Given the description of an element on the screen output the (x, y) to click on. 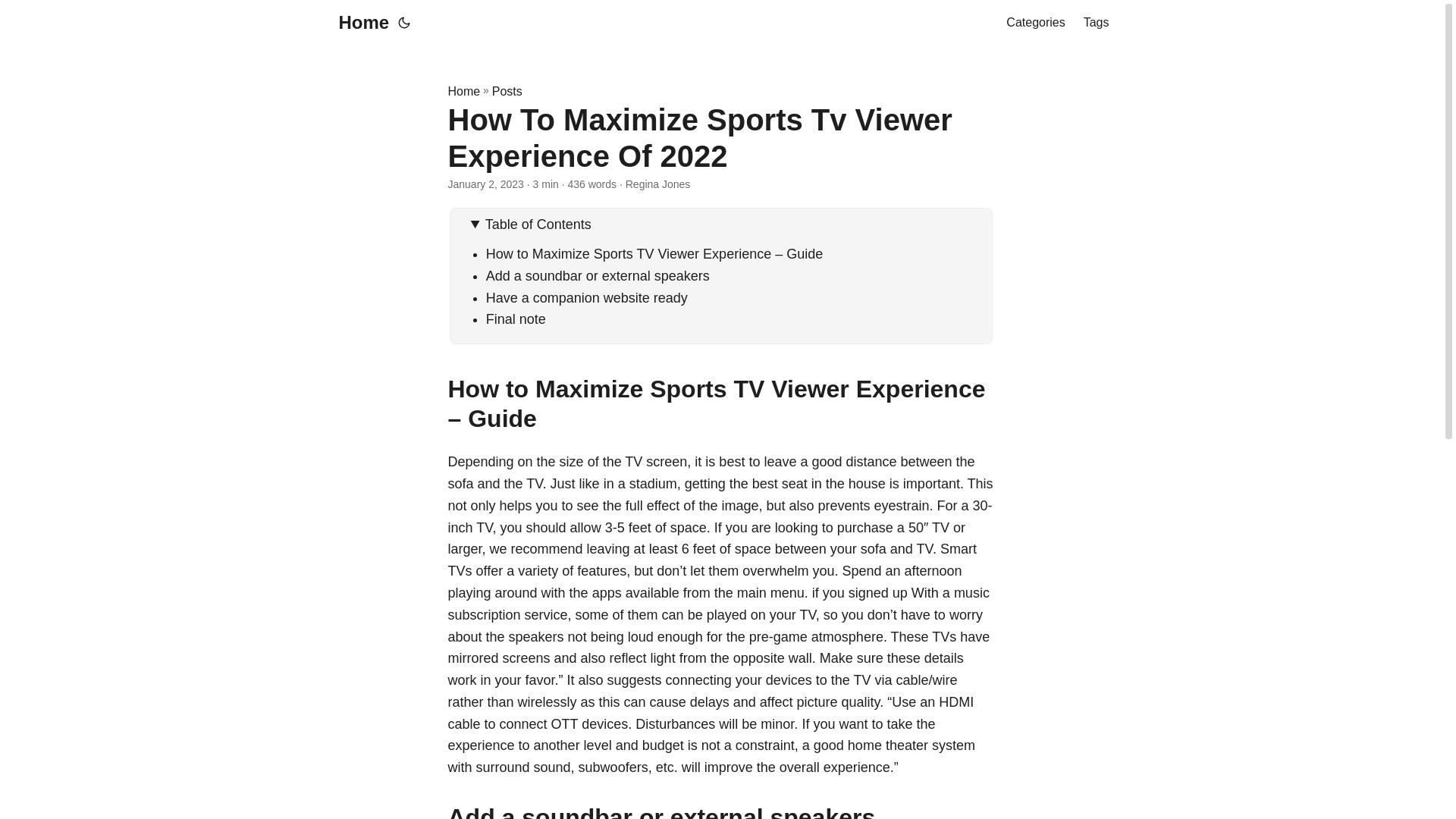
Have a companion website ready (586, 297)
Home (359, 22)
Add a soundbar or external speakers (598, 275)
Categories (1035, 22)
Posts (507, 91)
Categories (1035, 22)
Home (463, 91)
Final note (516, 319)
